Given the description of an element on the screen output the (x, y) to click on. 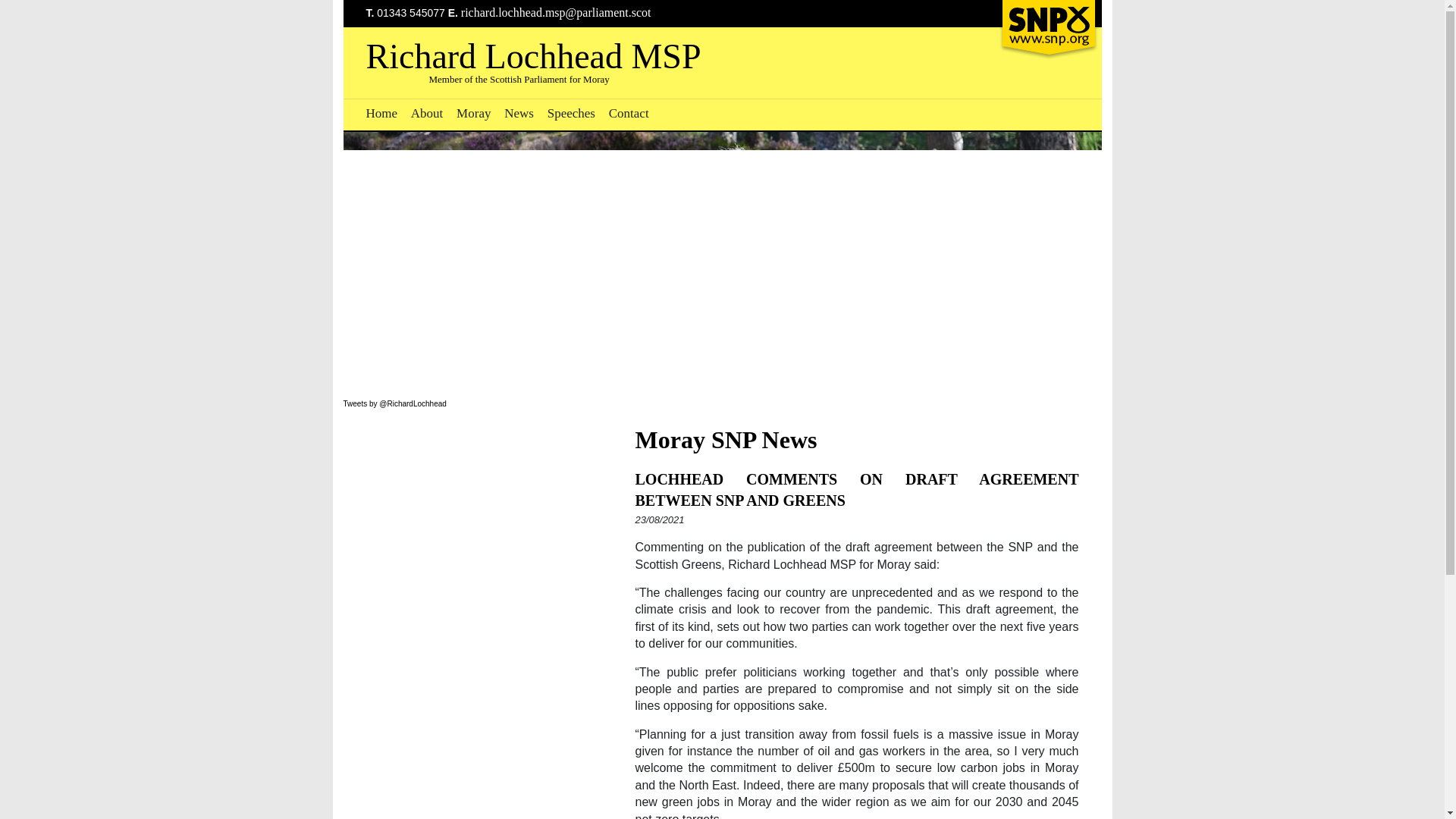
Contact (628, 113)
Home (381, 113)
News (518, 113)
About (427, 113)
Moray (473, 113)
LOCHHEAD COMMENTS ON DRAFT AGREEMENT BETWEEN SNP AND GREENS (856, 489)
Speeches (571, 113)
